Given the description of an element on the screen output the (x, y) to click on. 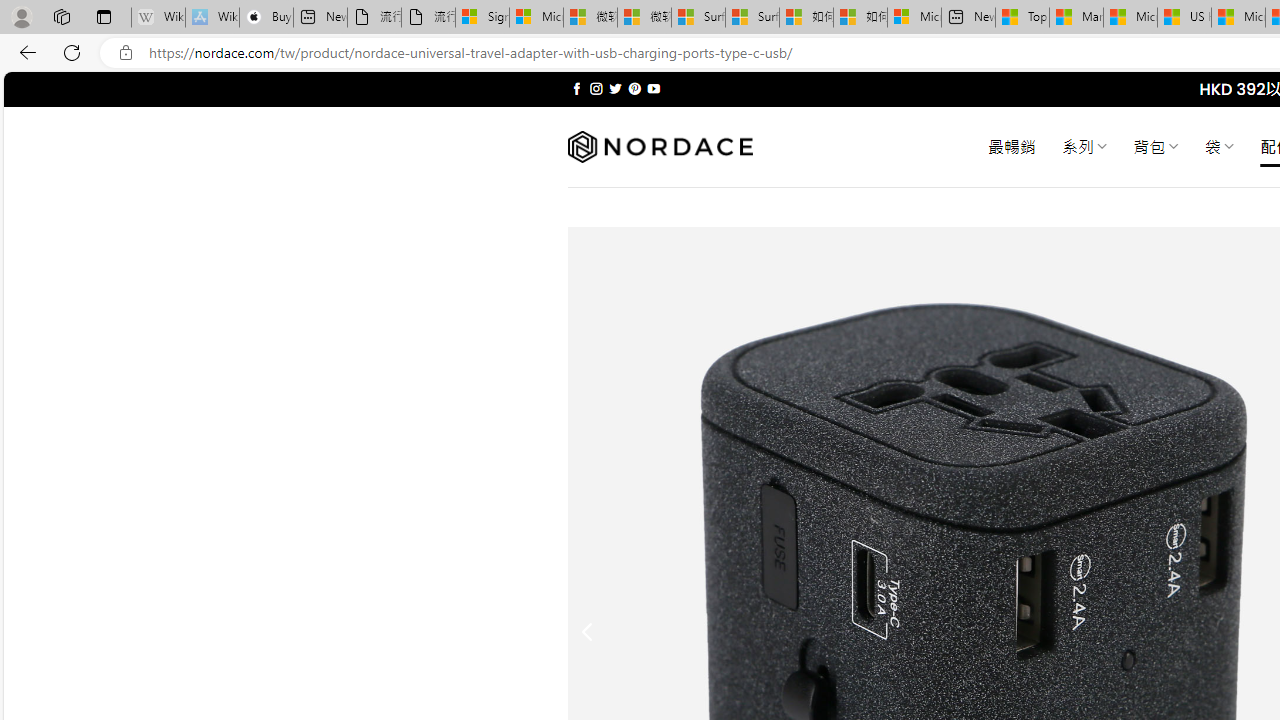
Sign in to your Microsoft account (482, 17)
Top Stories - MSN (1022, 17)
Follow on Facebook (576, 88)
